Given the description of an element on the screen output the (x, y) to click on. 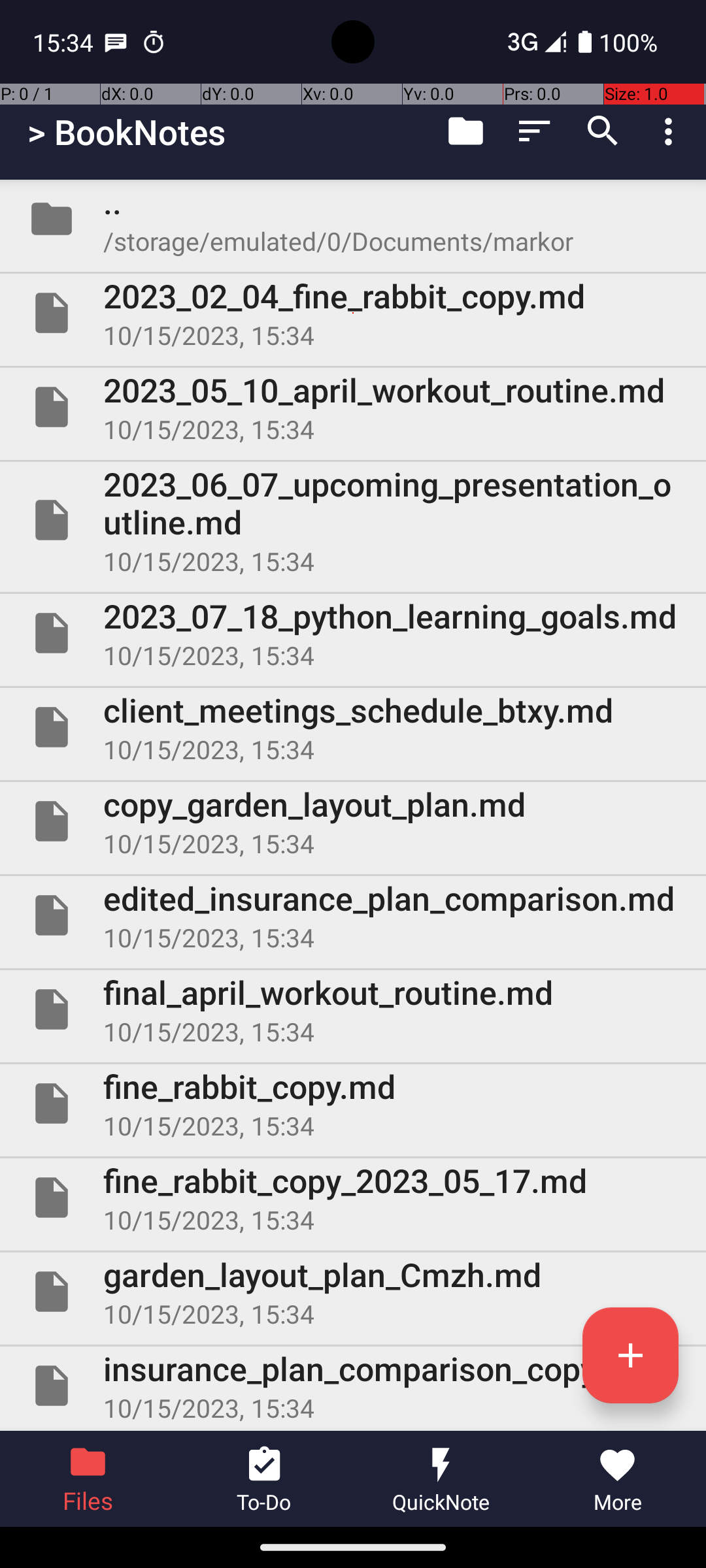
> BookNotes Element type: android.widget.TextView (126, 131)
File 2023_02_04_fine_rabbit_copy.md 10/15/2023, 15:34 Element type: android.widget.LinearLayout (353, 312)
File 2023_05_10_april_workout_routine.md 10/15/2023, 15:34 Element type: android.widget.LinearLayout (353, 406)
File 2023_06_07_upcoming_presentation_outline.md  Element type: android.widget.LinearLayout (353, 519)
File 2023_07_18_python_learning_goals.md  Element type: android.widget.LinearLayout (353, 632)
File client_meetings_schedule_btxy.md  Element type: android.widget.LinearLayout (353, 726)
File copy_garden_layout_plan.md  Element type: android.widget.LinearLayout (353, 821)
File edited_insurance_plan_comparison.md  Element type: android.widget.LinearLayout (353, 915)
File final_april_workout_routine.md  Element type: android.widget.LinearLayout (353, 1009)
File fine_rabbit_copy.md  Element type: android.widget.LinearLayout (353, 1103)
File fine_rabbit_copy_2023_05_17.md  Element type: android.widget.LinearLayout (353, 1197)
File garden_layout_plan_Cmzh.md  Element type: android.widget.LinearLayout (353, 1291)
File insurance_plan_comparison_copy.md  Element type: android.widget.LinearLayout (353, 1385)
